Given the description of an element on the screen output the (x, y) to click on. 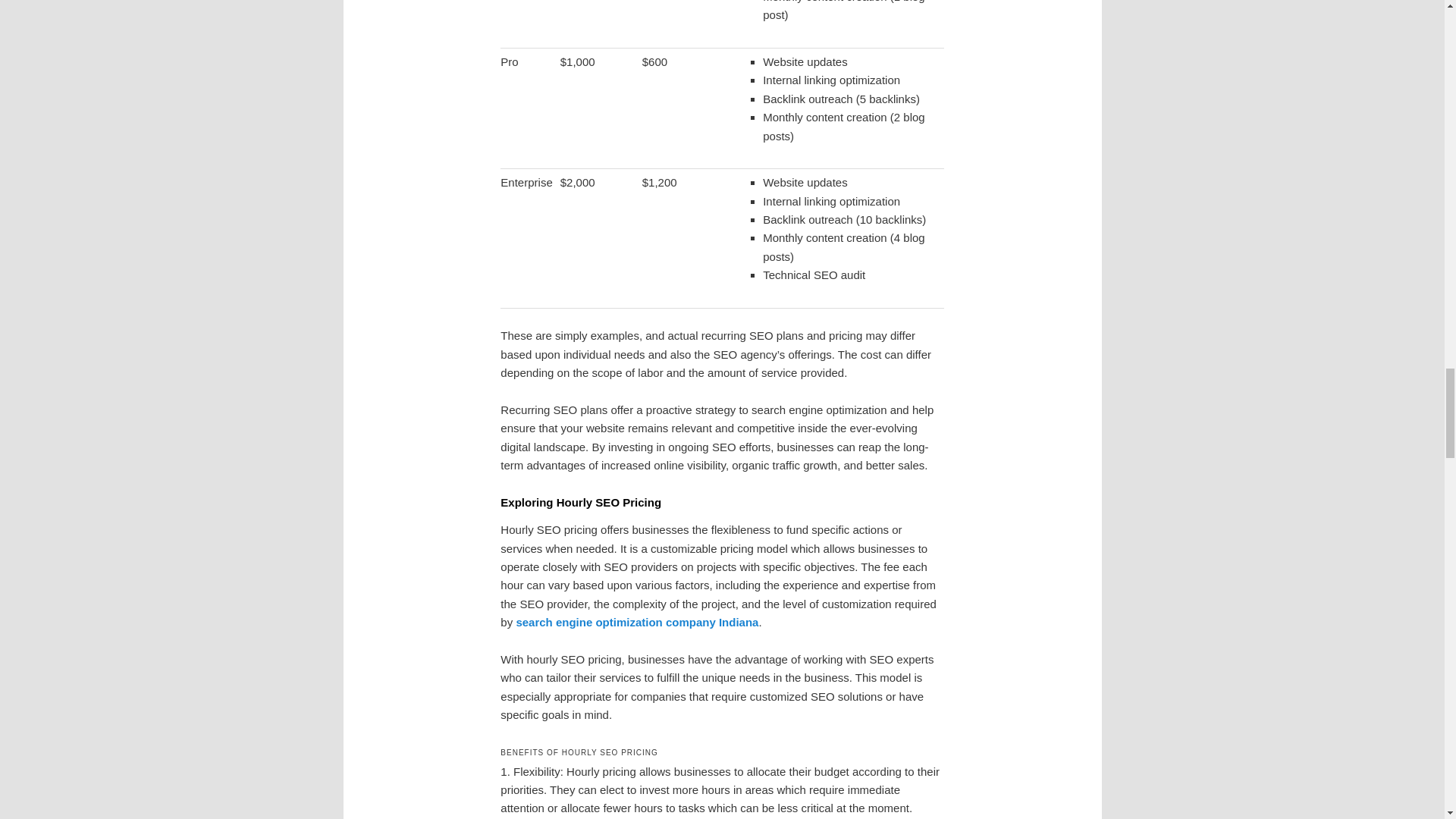
search engine optimization company Indiana (636, 621)
